Given the description of an element on the screen output the (x, y) to click on. 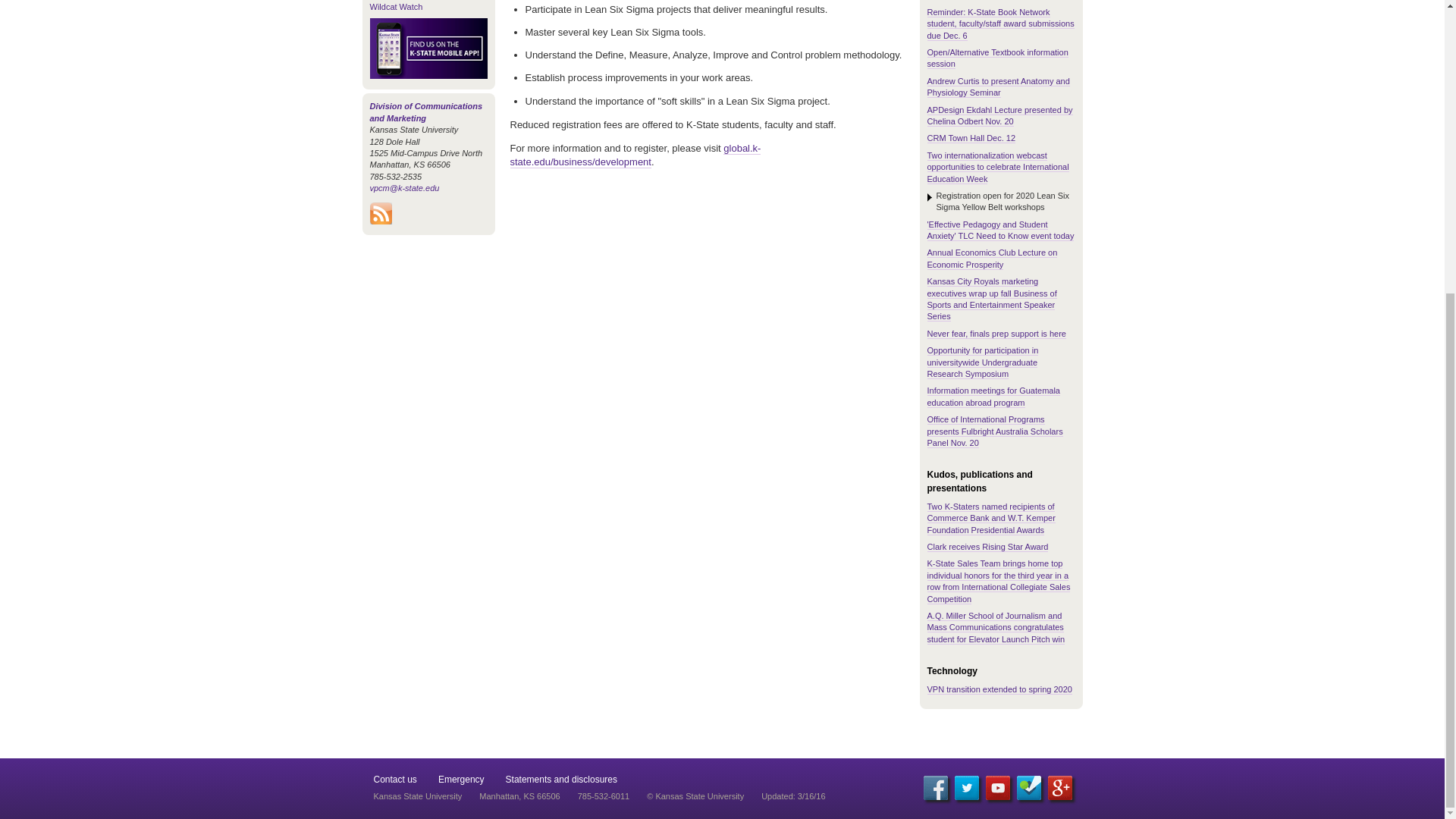
Wildcat Watch (396, 6)
Division of Communications and Marketing (426, 111)
Subscribe to K-State Today RSS feeds (380, 220)
